Given the description of an element on the screen output the (x, y) to click on. 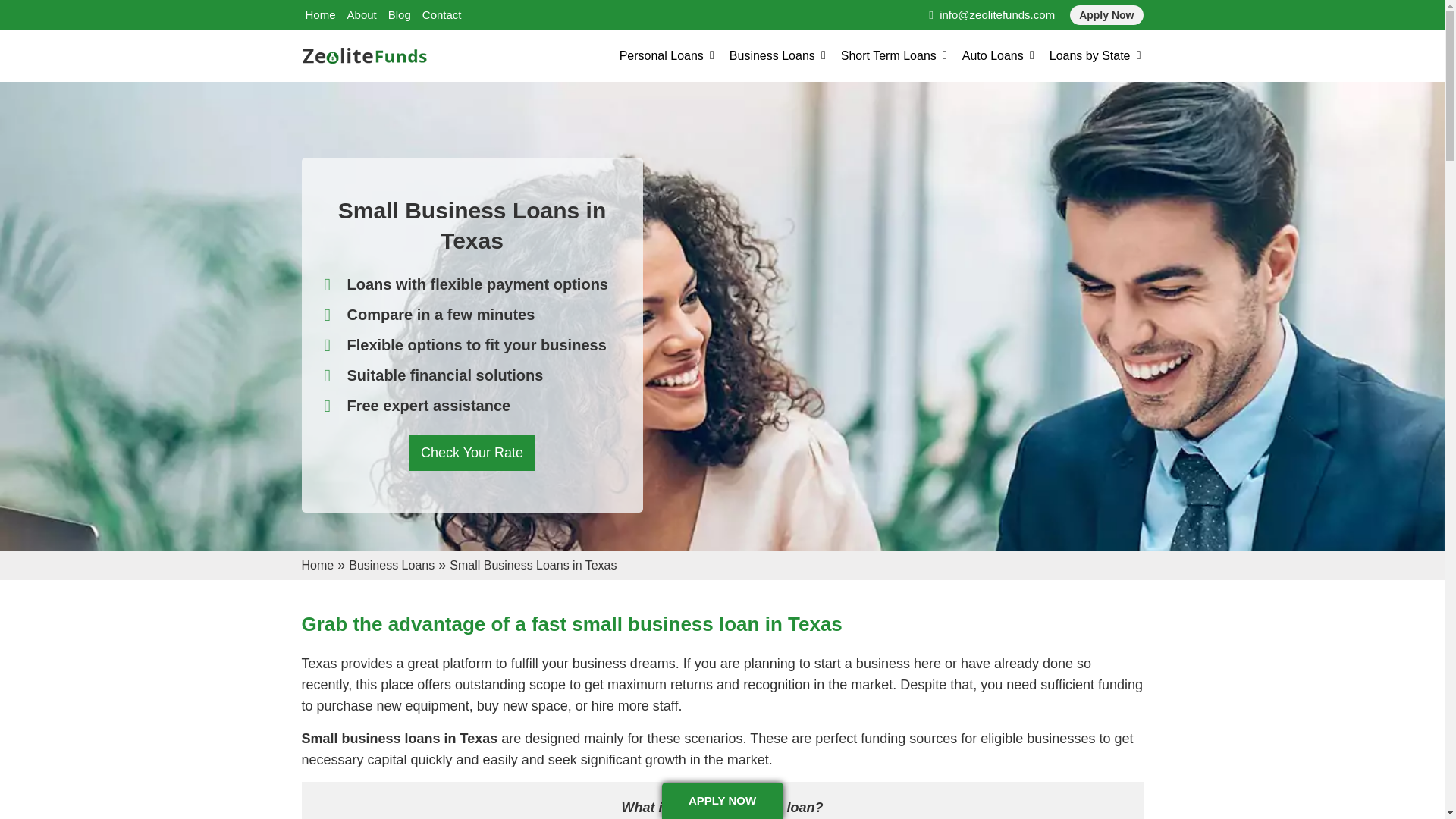
Short Term Loans (888, 55)
About (362, 14)
Contact (441, 14)
Blog (399, 14)
Business Loans (772, 55)
Personal Loans (661, 55)
Home (319, 14)
Auto Loans (992, 55)
Loans by State (1089, 55)
Apply Now (1106, 14)
